Given the description of an element on the screen output the (x, y) to click on. 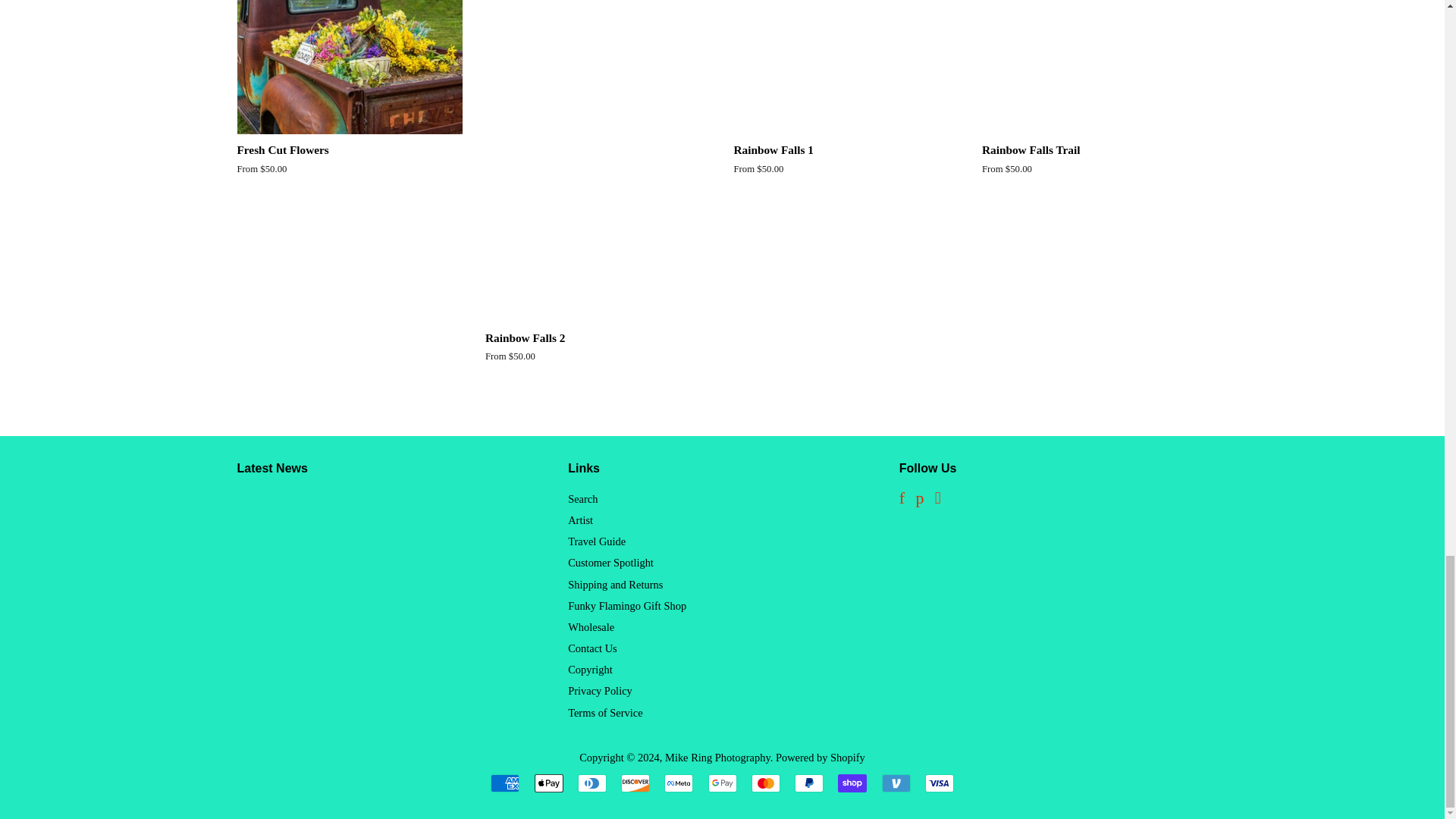
Discover (635, 782)
PayPal (809, 782)
Google Pay (721, 782)
Meta Pay (678, 782)
Apple Pay (548, 782)
American Express (504, 782)
Venmo (895, 782)
Shop Pay (852, 782)
Mastercard (765, 782)
Visa (938, 782)
Diners Club (592, 782)
